Given the description of an element on the screen output the (x, y) to click on. 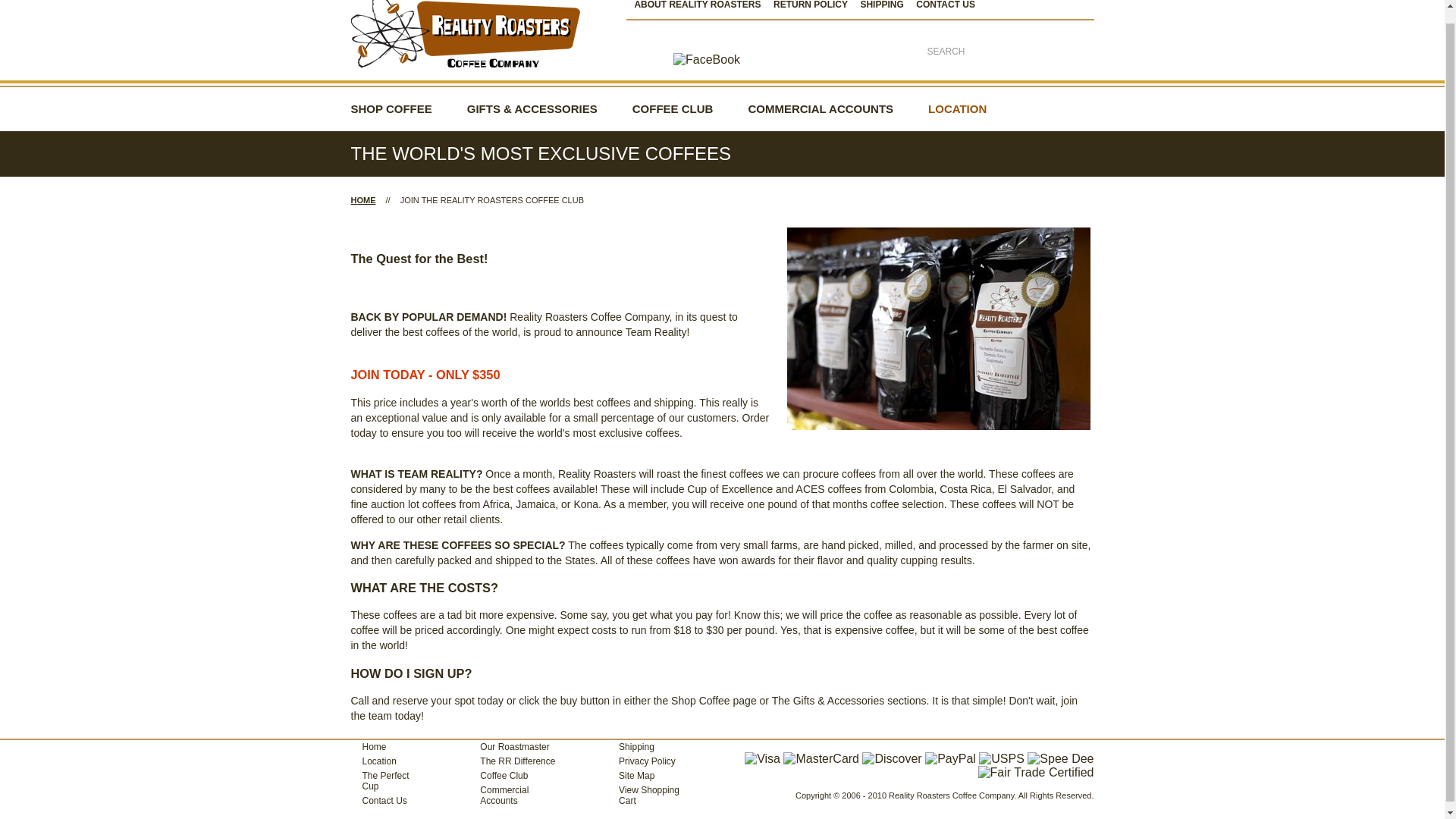
CONTACT US (949, 4)
COMMERCIAL ACCOUNTS (820, 108)
Home (384, 747)
Contact Us (384, 800)
SHIPPING (886, 4)
LOCATION (957, 108)
Shipping (647, 747)
Our Roastmaster (512, 747)
Coffee Club (512, 775)
View Shopping Cart (647, 794)
